Given the description of an element on the screen output the (x, y) to click on. 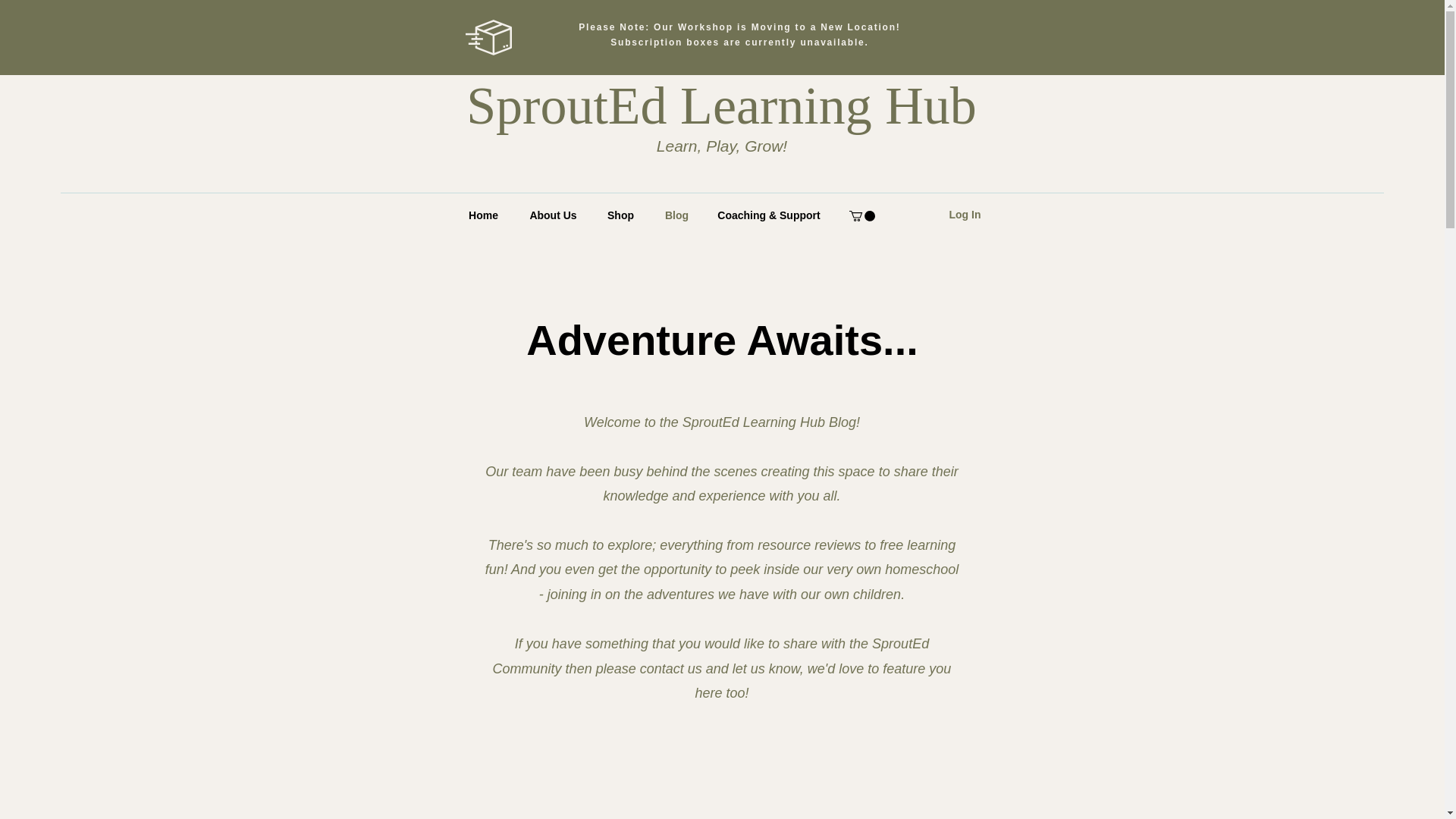
Log In (965, 215)
About Us (552, 214)
SproutEd Learning Hub (720, 105)
Shop (620, 214)
Learn, Play, Grow! (721, 145)
Blog (676, 214)
Home (482, 214)
